Given the description of an element on the screen output the (x, y) to click on. 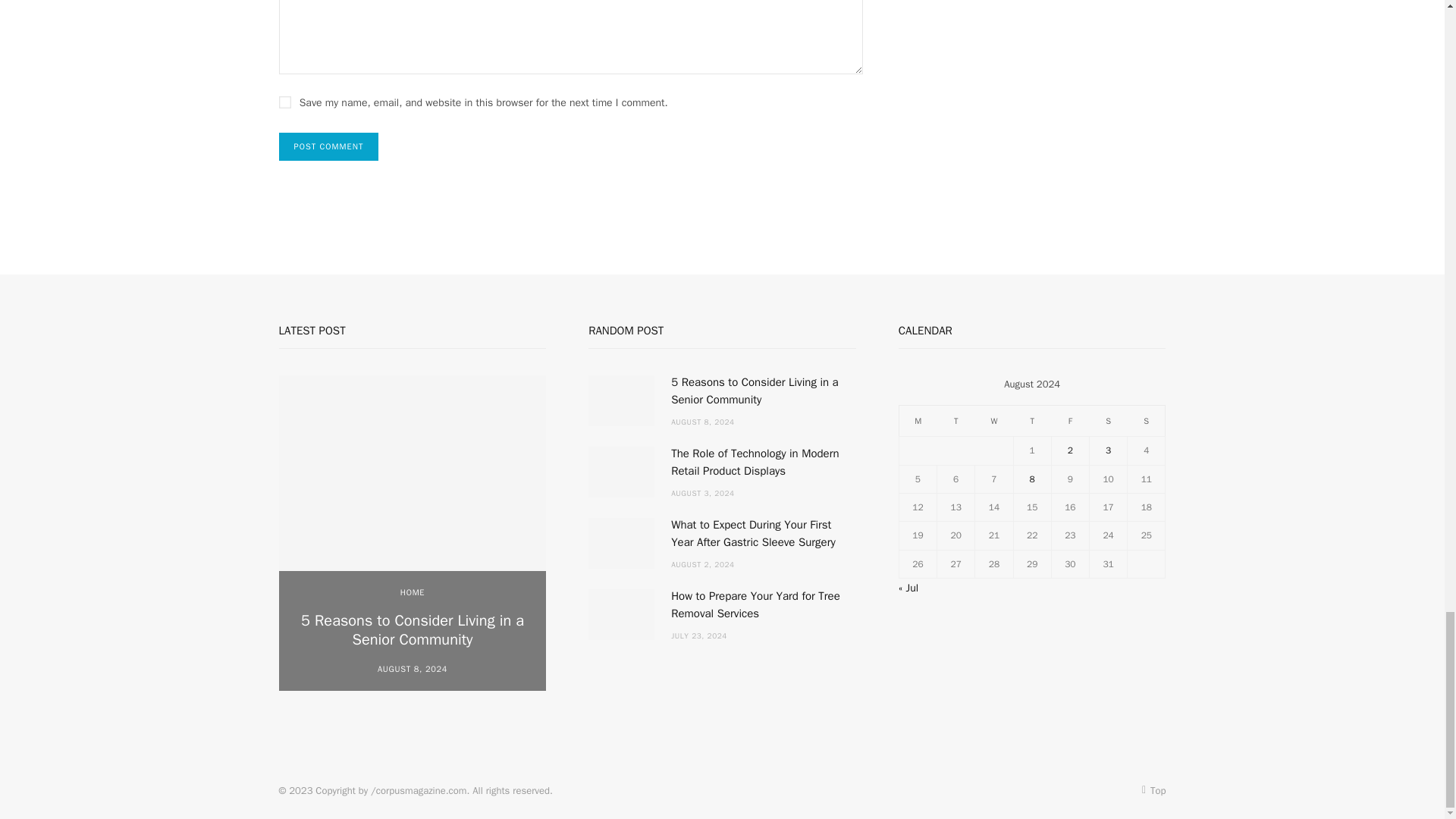
Thursday (1032, 420)
Post Comment (328, 146)
Monday (917, 420)
yes (285, 102)
Post Comment (328, 146)
Wednesday (994, 420)
Tuesday (956, 420)
